Given the description of an element on the screen output the (x, y) to click on. 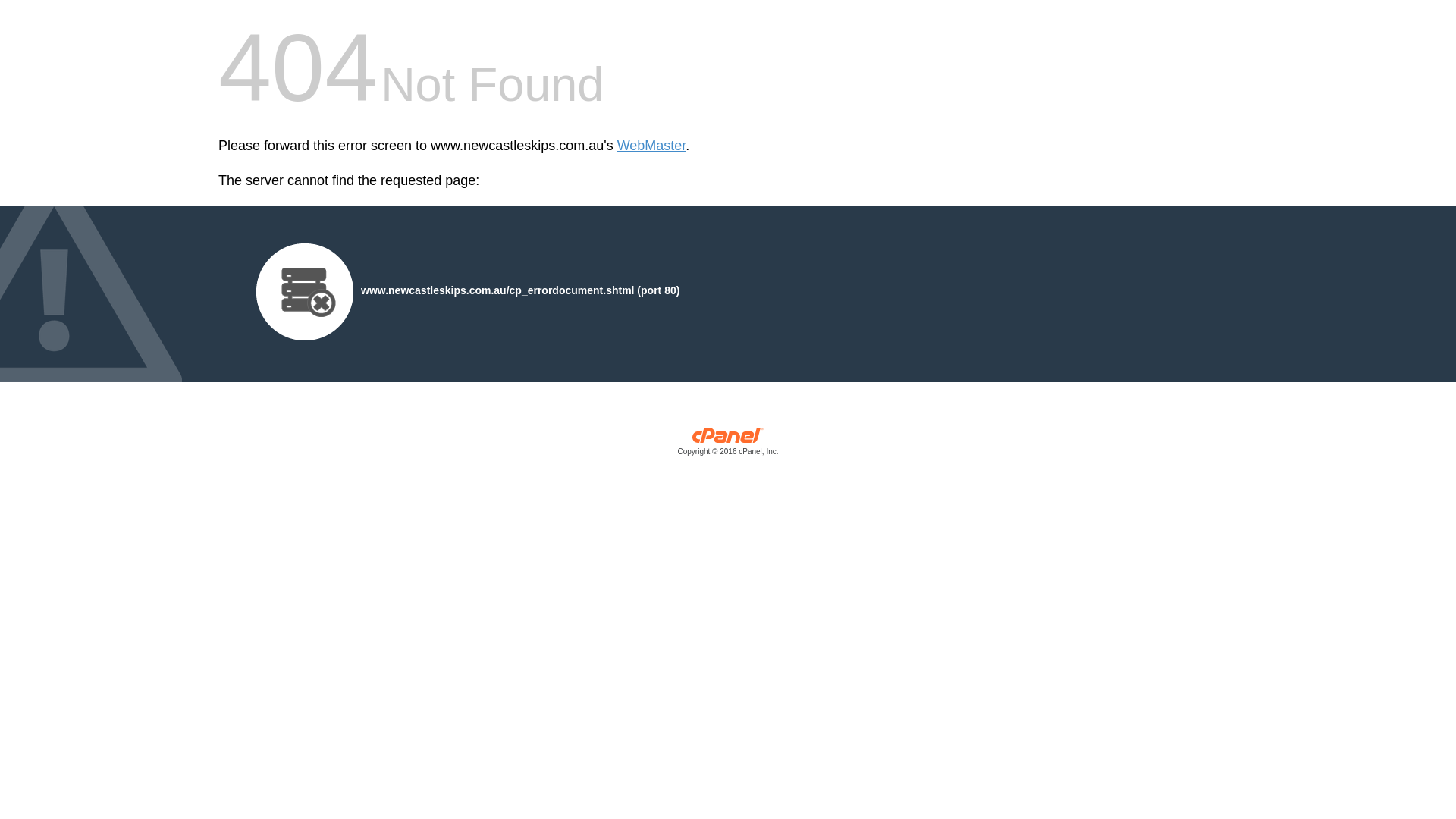
WebMaster Element type: text (651, 145)
